Given the description of an element on the screen output the (x, y) to click on. 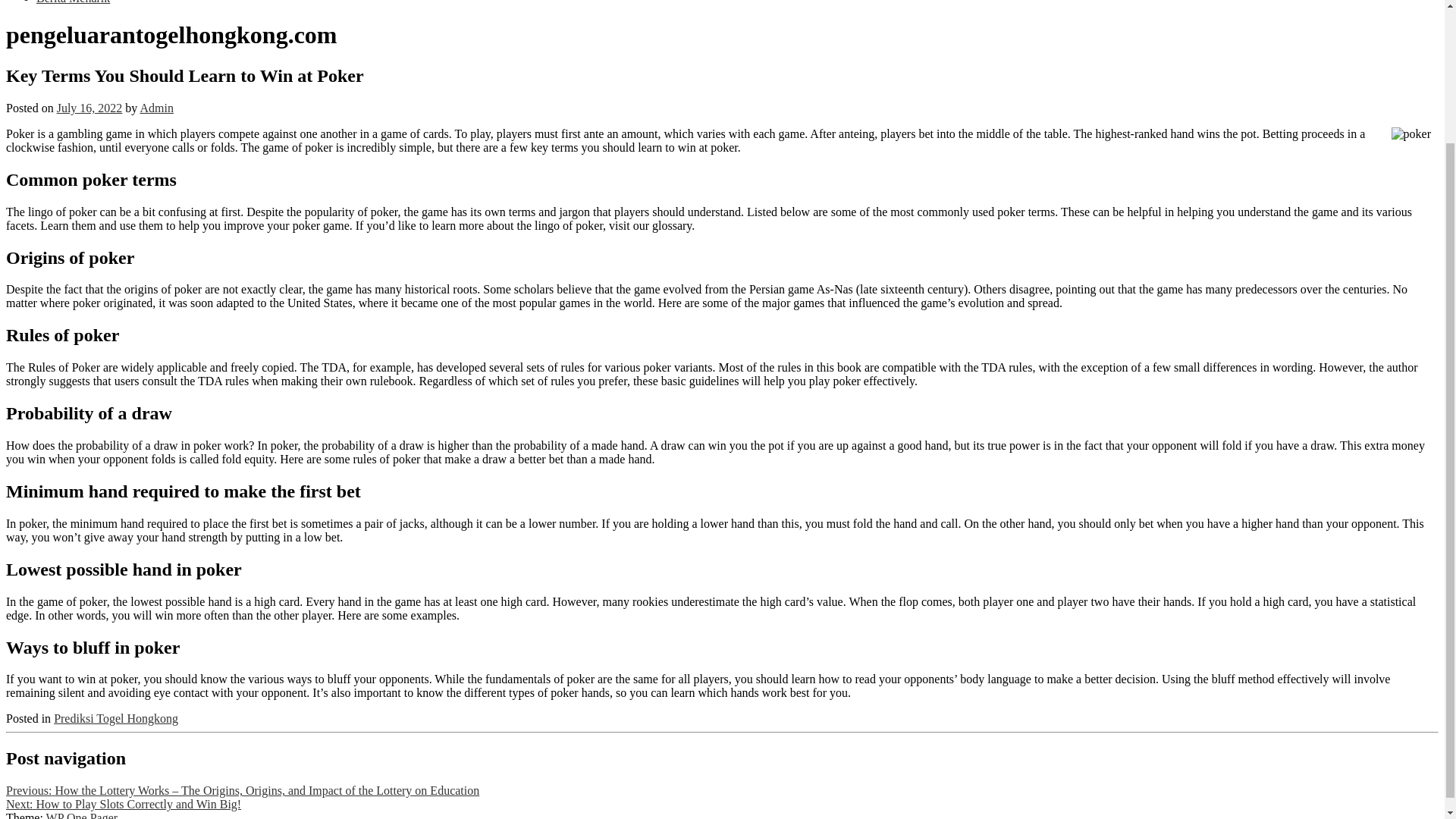
Berita Menarik (73, 2)
Admin (156, 107)
Next: How to Play Slots Correctly and Win Big! (123, 803)
Prediksi Togel Hongkong (115, 717)
July 16, 2022 (89, 107)
